Given the description of an element on the screen output the (x, y) to click on. 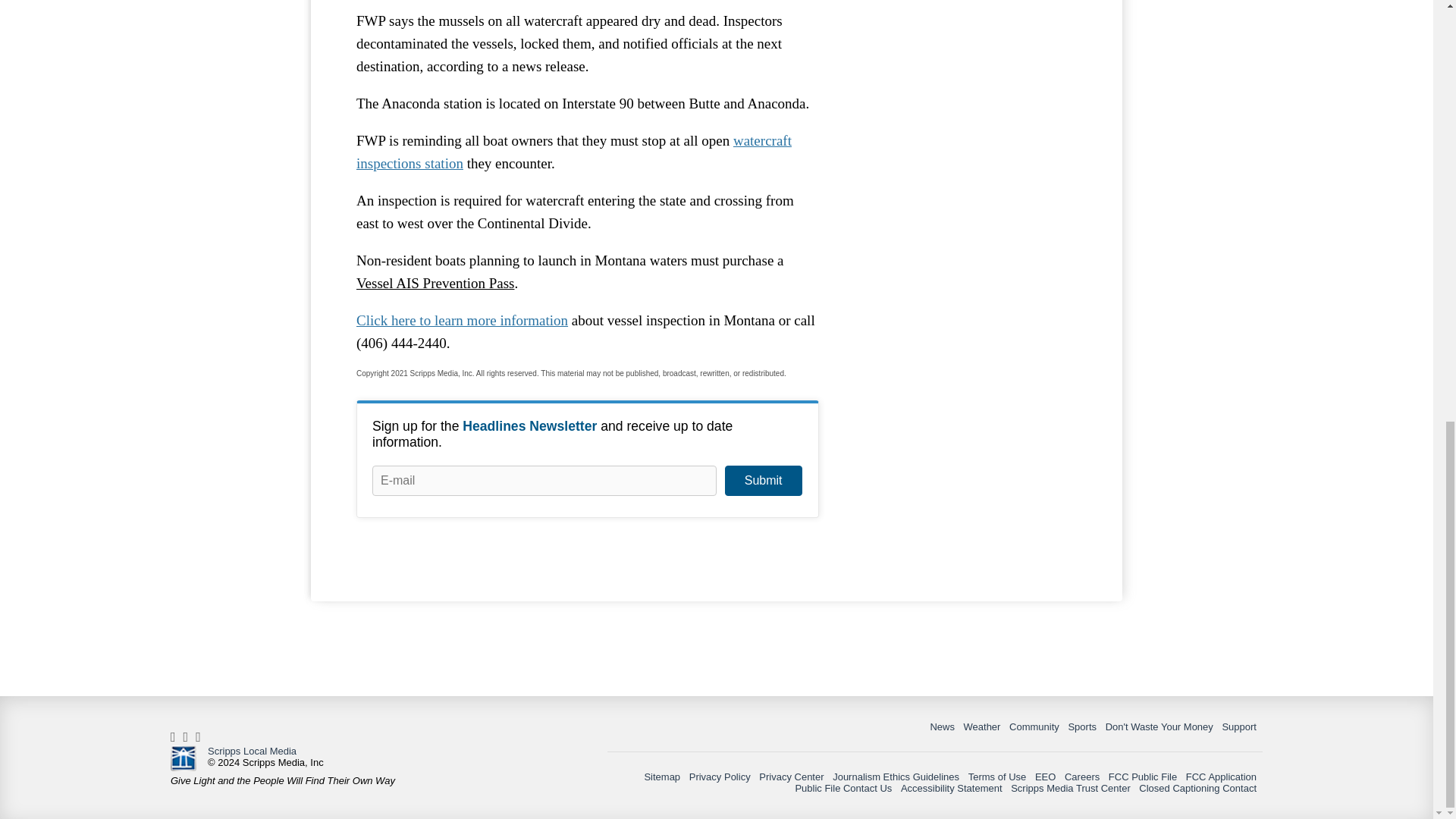
Submit (763, 481)
